Given the description of an element on the screen output the (x, y) to click on. 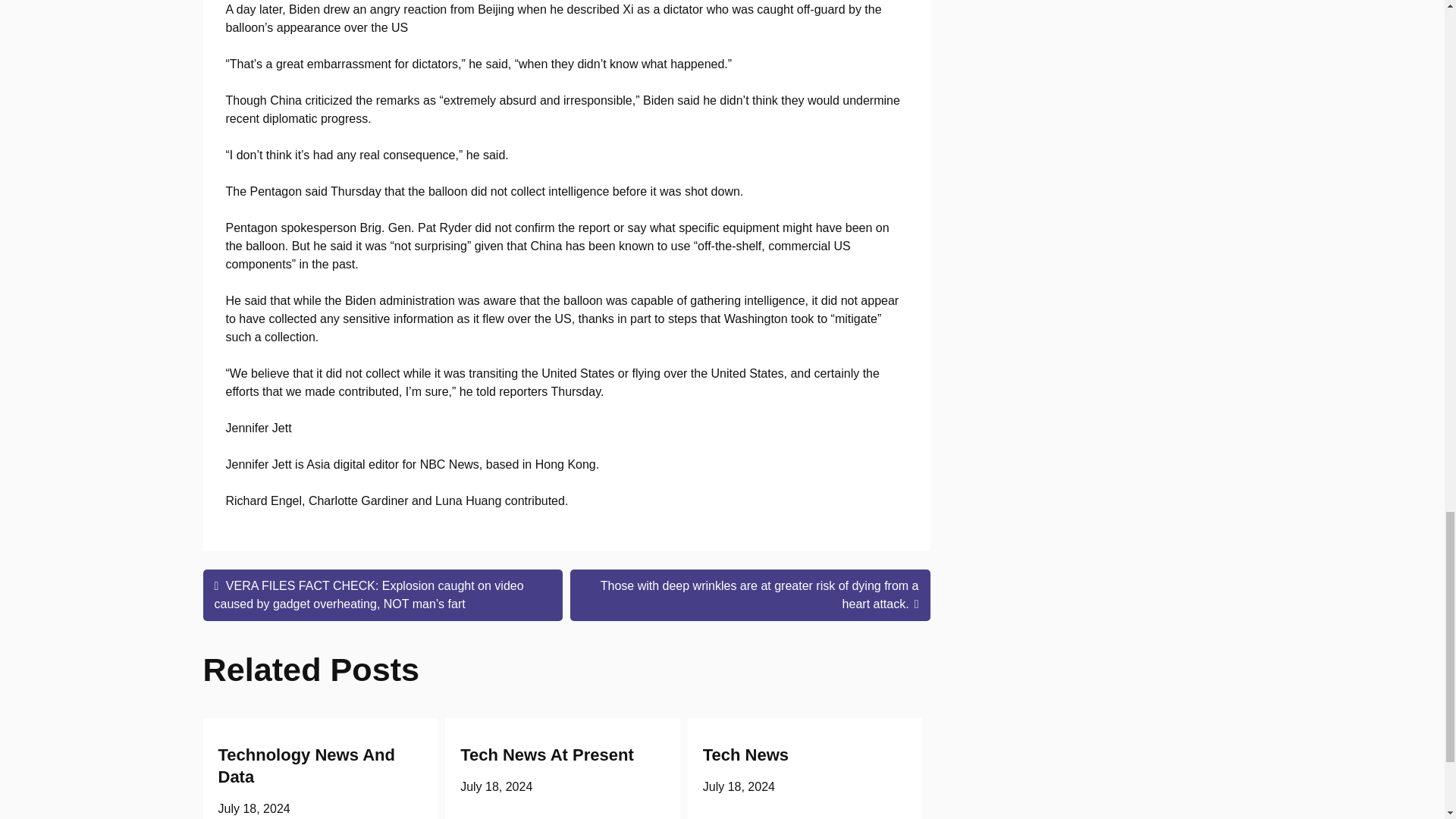
July 18, 2024 (496, 786)
Tech News At Present (546, 754)
Technology News And Data (306, 765)
July 18, 2024 (738, 786)
July 18, 2024 (253, 808)
Tech News (746, 754)
